Given the description of an element on the screen output the (x, y) to click on. 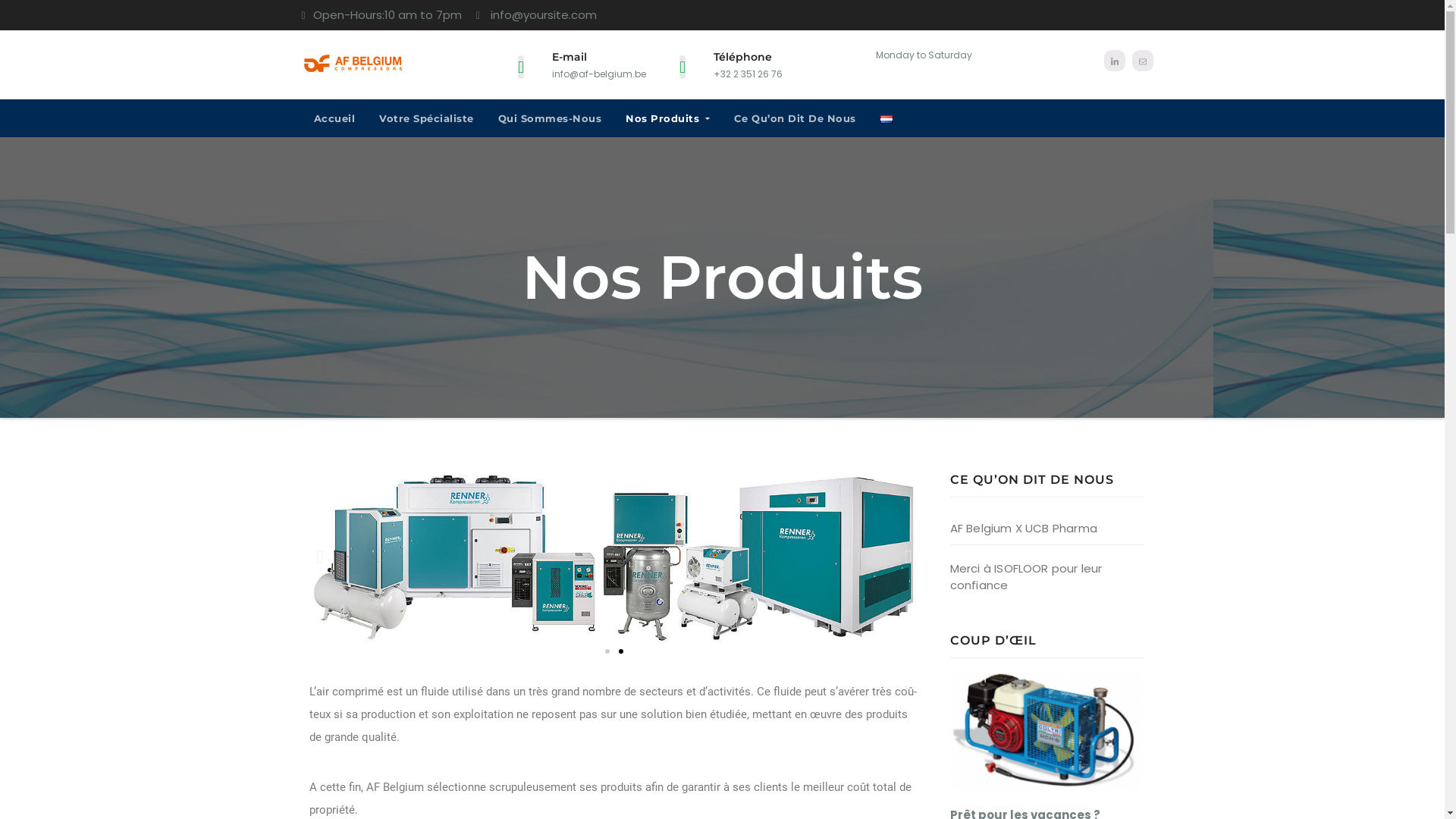
Qui Sommes-Nous Element type: text (549, 118)
Accueil Element type: text (334, 118)
